Given the description of an element on the screen output the (x, y) to click on. 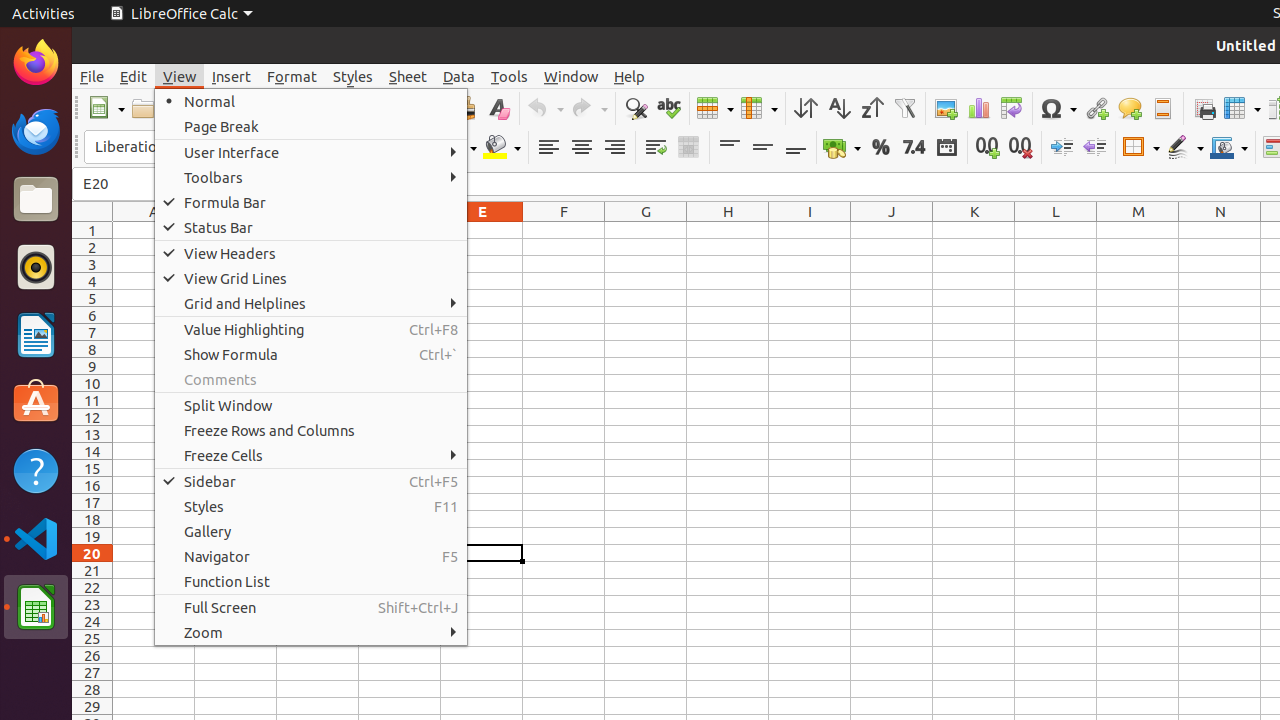
Help Element type: menu (629, 76)
Decrease Element type: push-button (1094, 147)
Align Bottom Element type: push-button (795, 147)
Comment Element type: push-button (1129, 108)
H1 Element type: table-cell (728, 230)
